Given the description of an element on the screen output the (x, y) to click on. 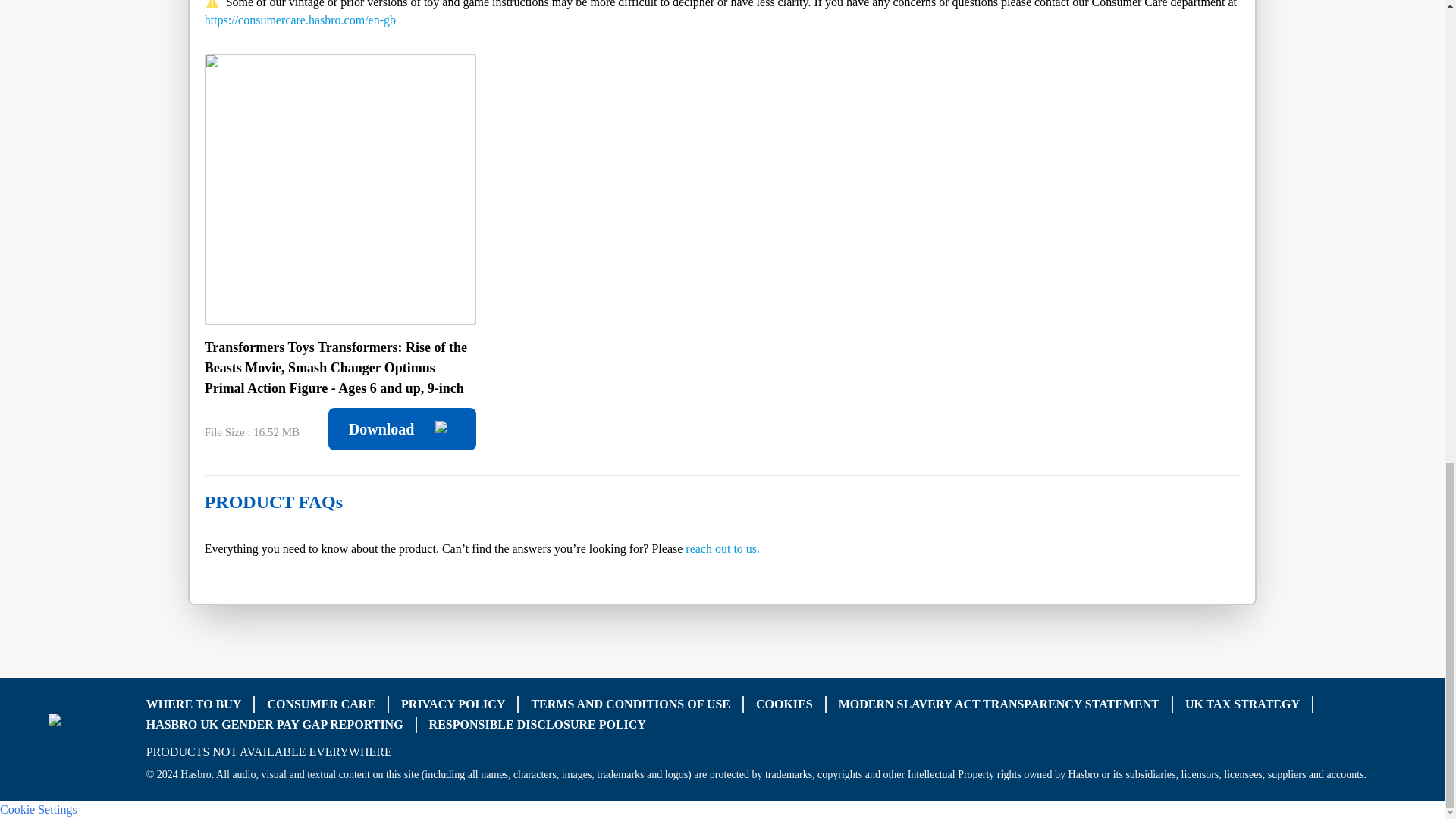
PRIVACY POLICY (453, 703)
UK TAX STRATEGY (1242, 703)
TERMS AND CONDITIONS OF USE (630, 703)
MODERN SLAVERY ACT TRANSPARENCY STATEMENT (998, 703)
RESPONSIBLE DISCLOSURE POLICY (537, 724)
COOKIES (783, 703)
WHERE TO BUY (194, 703)
CONSUMER CARE (320, 703)
Download (402, 428)
Cookie Settings (38, 809)
